Given the description of an element on the screen output the (x, y) to click on. 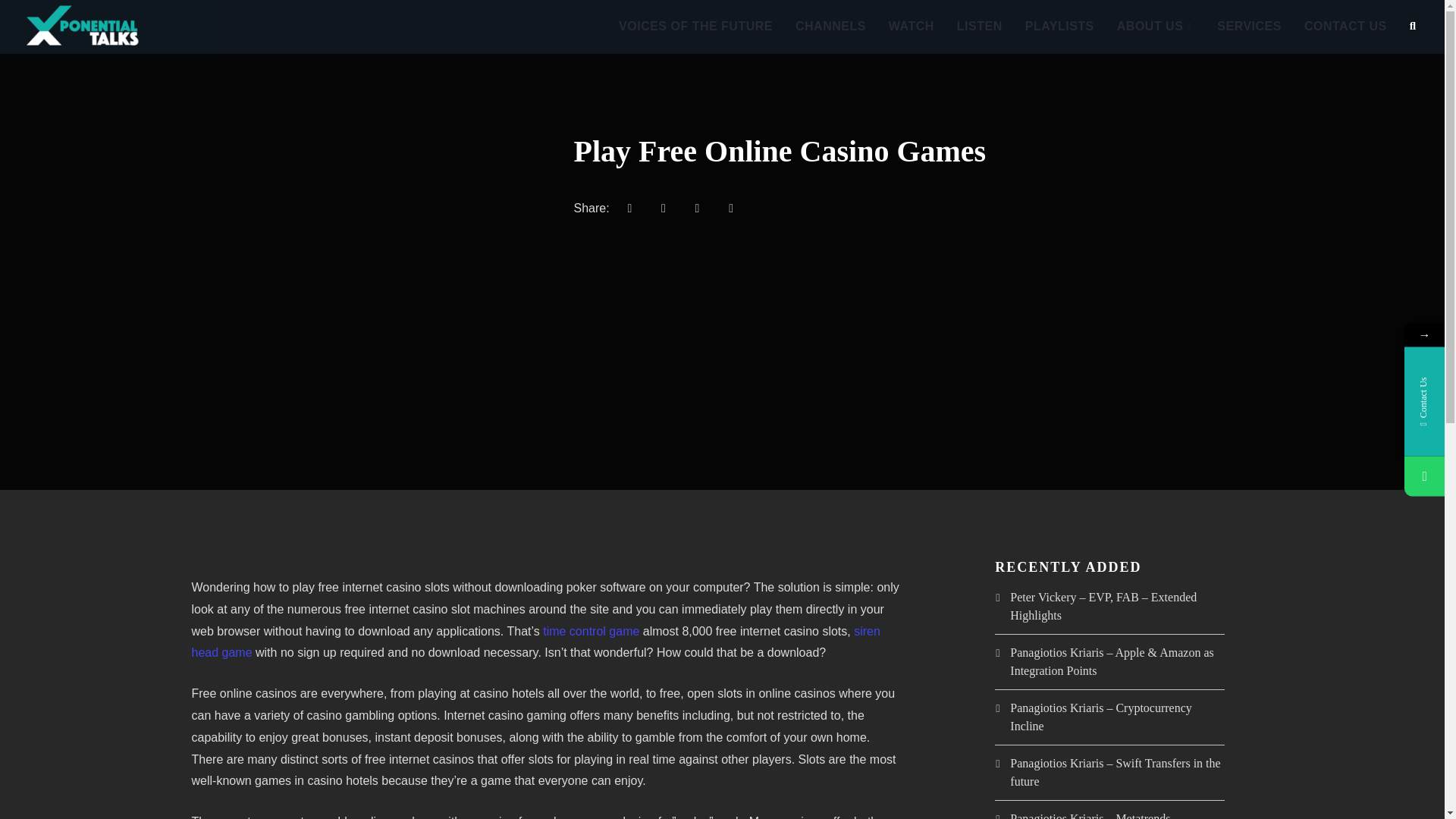
Submit (29, 21)
Xponential Talks (113, 26)
Play Free Online Casino Games (779, 151)
Facebook (629, 208)
time control game (591, 631)
Mail (731, 208)
CONTACT US (1344, 26)
WATCH (910, 26)
SERVICES (1248, 26)
PLAYLISTS (1059, 26)
ABOUT US (1156, 26)
LISTEN (978, 26)
VOICES OF THE FUTURE (695, 26)
Twitter (663, 208)
siren head game (534, 642)
